Given the description of an element on the screen output the (x, y) to click on. 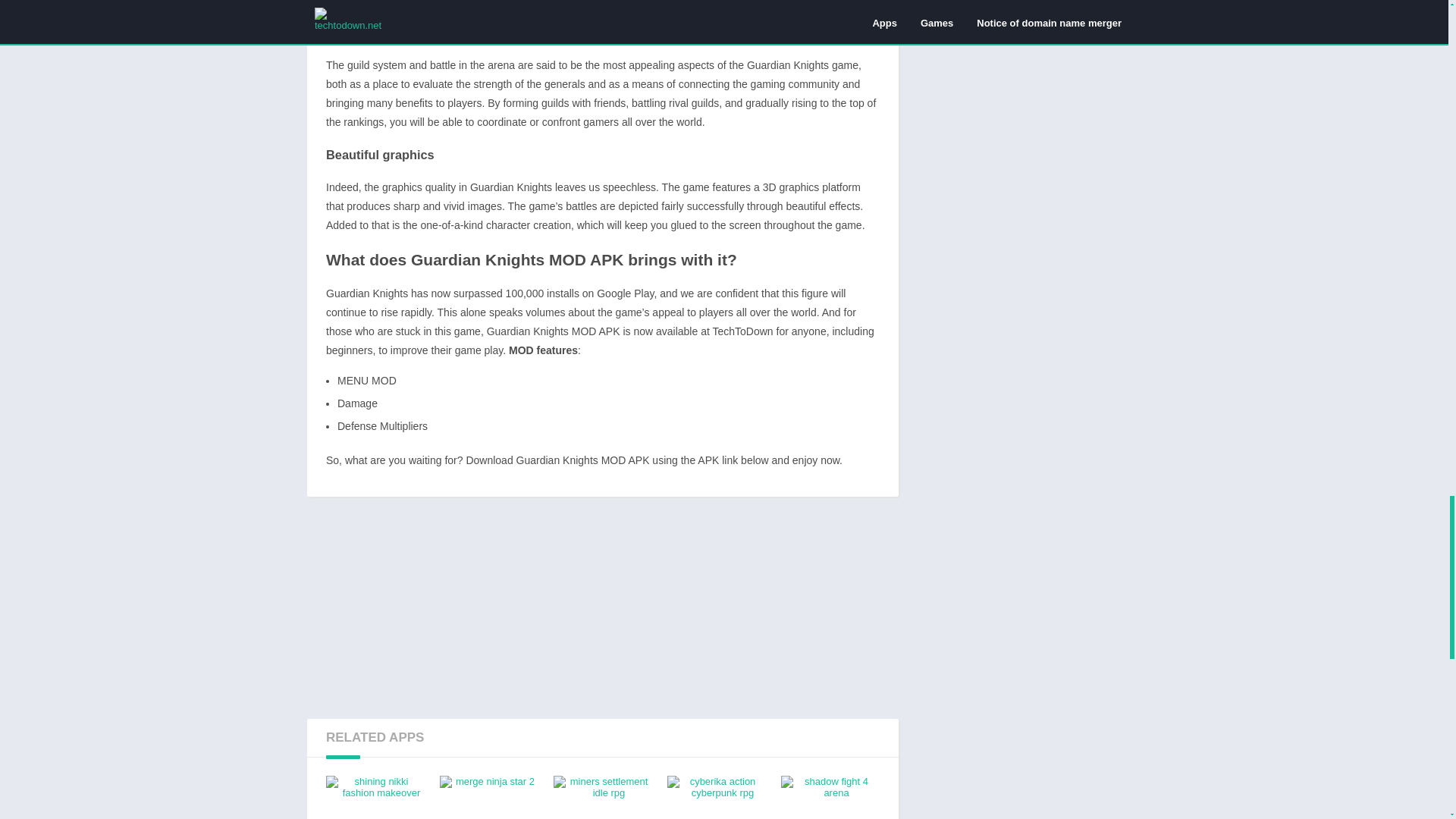
Guardian Knights 4 (375, 797)
Shining Nikki (602, 22)
Shining Nikki 5 (375, 797)
